Given the description of an element on the screen output the (x, y) to click on. 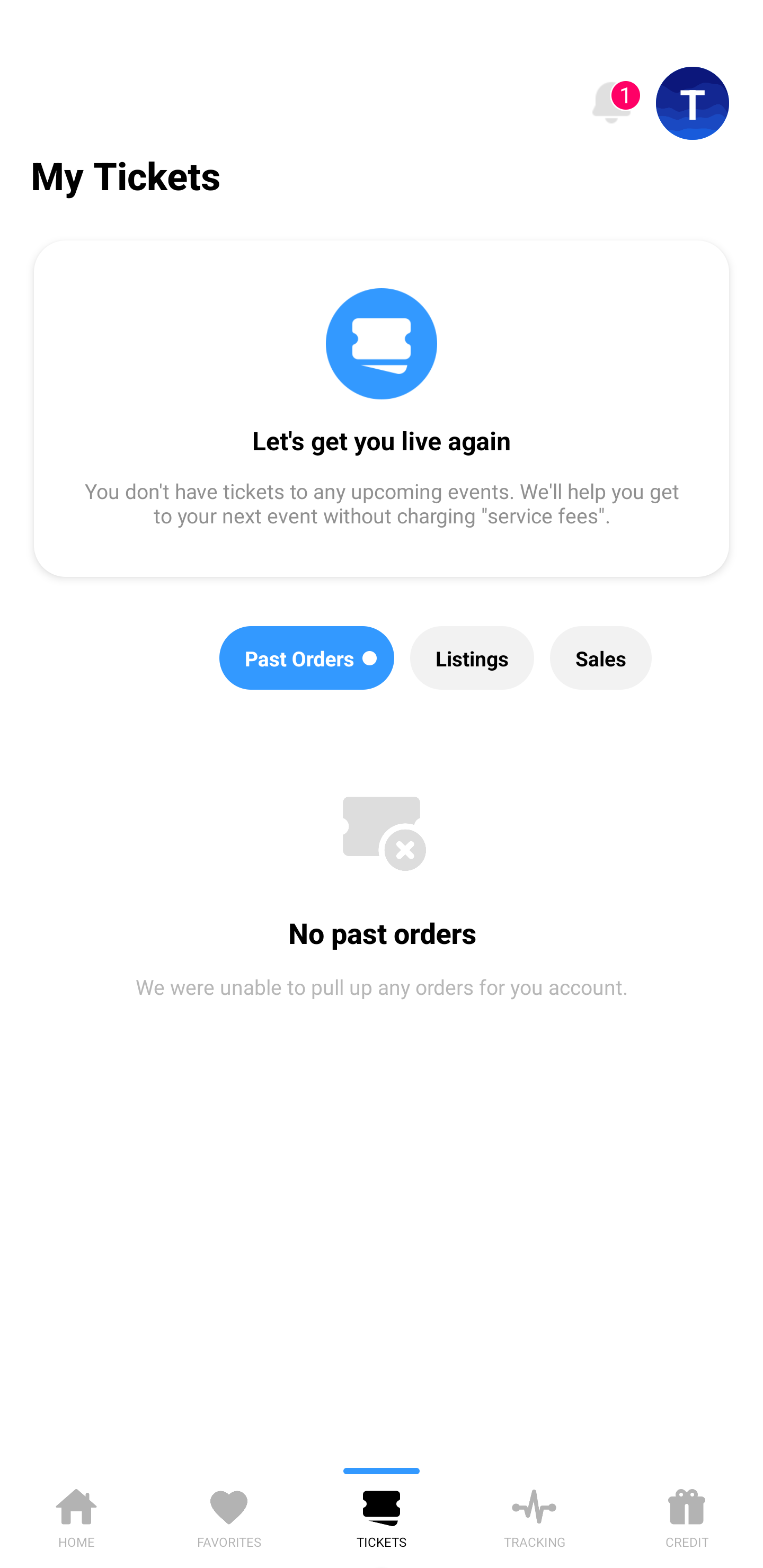
T (692, 103)
1 (611, 103)
Past Orders (306, 657)
Listings (472, 657)
Sales (600, 657)
HOME (76, 1515)
FAVORITES (228, 1515)
TICKETS (381, 1515)
TRACKING (533, 1515)
CREDIT (686, 1515)
